Given the description of an element on the screen output the (x, y) to click on. 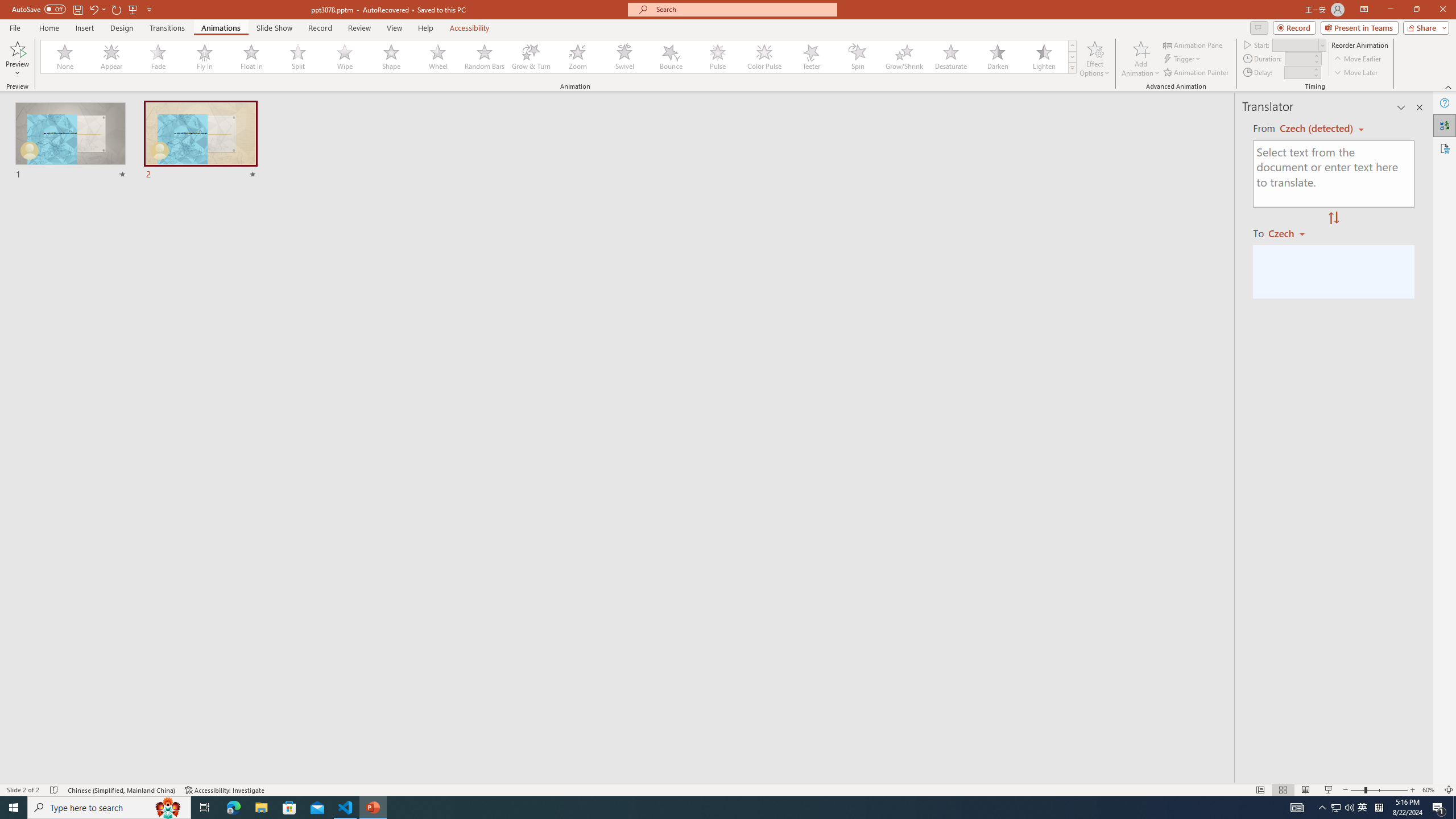
Wheel (437, 56)
Effect Options (1094, 58)
Shape (391, 56)
Zoom 60% (1430, 790)
Row up (1071, 45)
Translator (1444, 125)
Spin (857, 56)
Grow/Shrink (903, 56)
Czech (1291, 232)
Split (298, 56)
